Given the description of an element on the screen output the (x, y) to click on. 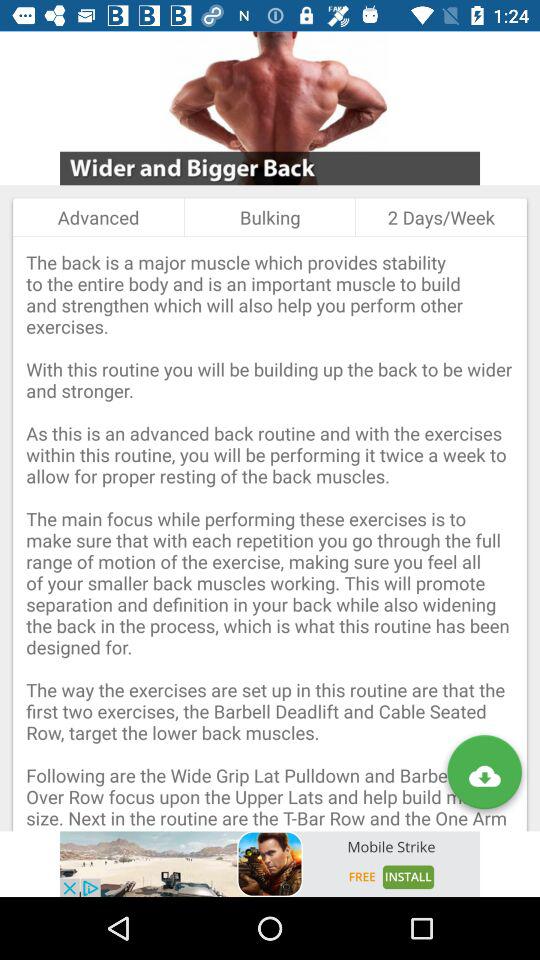
choose item to the left of the 2 days/week item (269, 217)
